Given the description of an element on the screen output the (x, y) to click on. 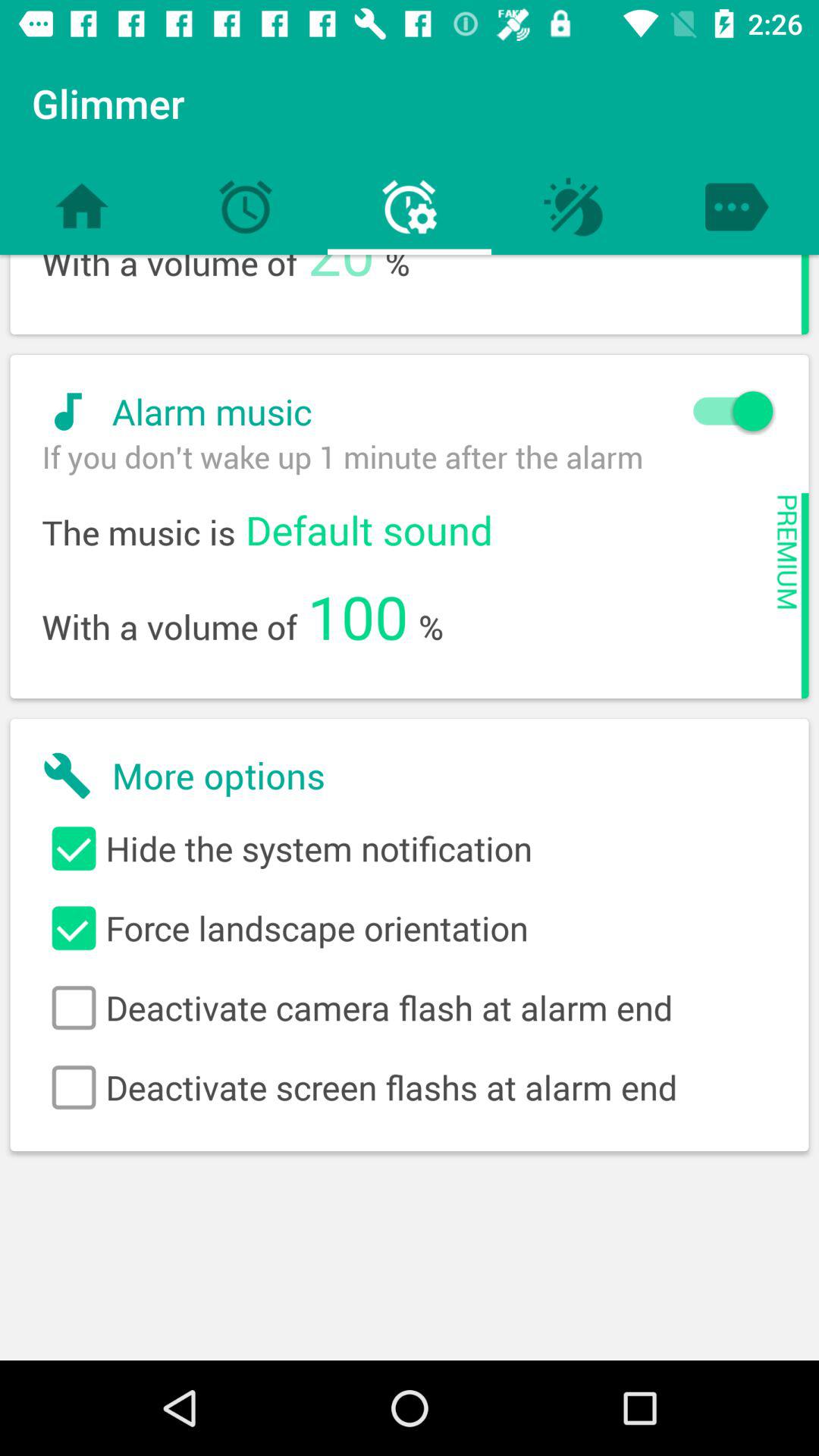
press the 20 (341, 278)
